Given the description of an element on the screen output the (x, y) to click on. 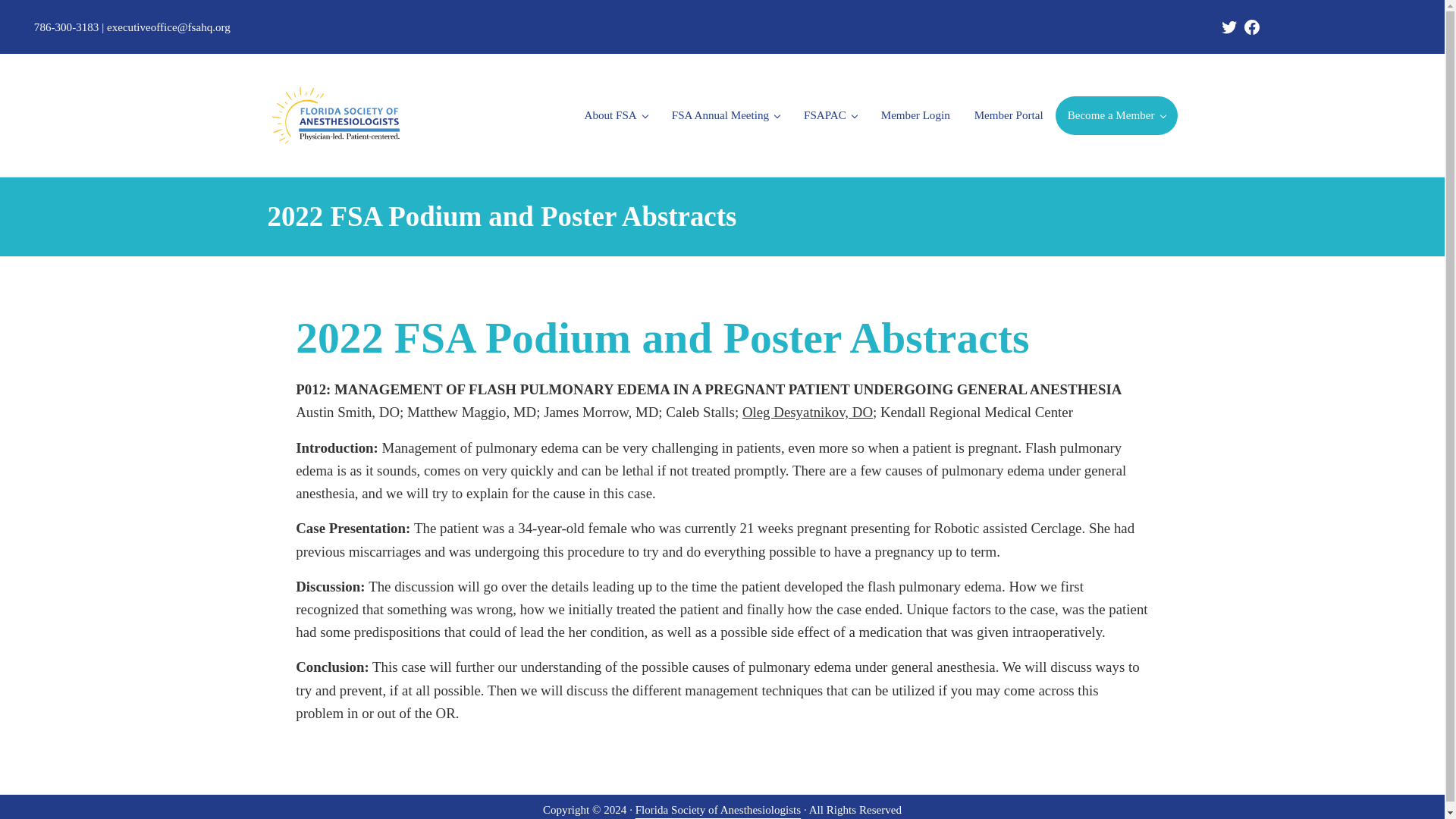
Member Portal (1008, 115)
About FSA (615, 115)
Member Login (915, 115)
Become a Member (1116, 115)
Twitter (1229, 27)
Facebook (1251, 27)
FSA Annual Meeting (725, 115)
FSAPAC (830, 115)
